Given the description of an element on the screen output the (x, y) to click on. 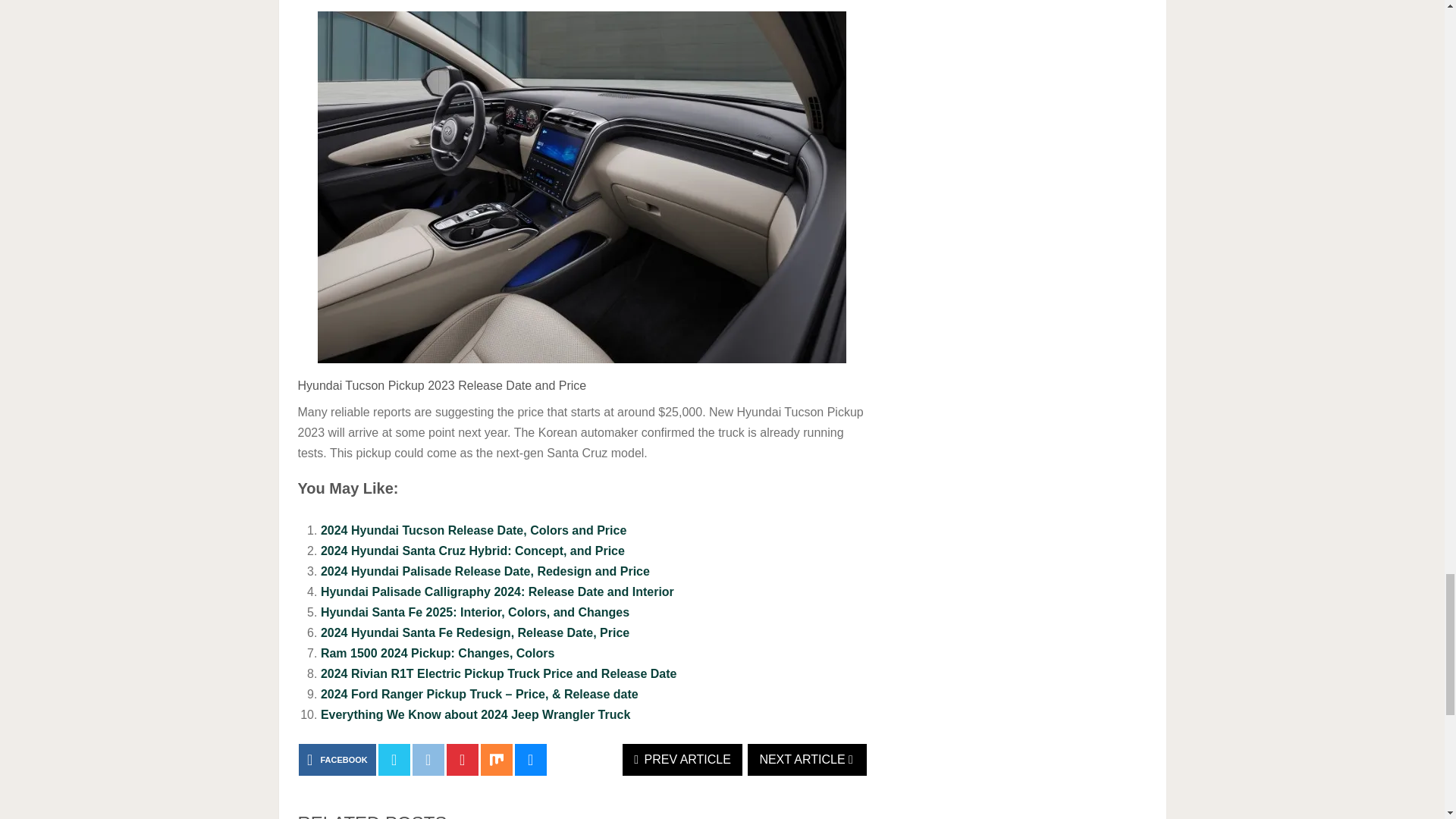
2024 Hyundai Palisade Release Date, Redesign and Price (484, 571)
2024 Hyundai Tucson Release Date, Colors and Price (473, 530)
2024 Hyundai Santa Cruz Hybrid: Concept, and Price (472, 550)
Hyundai Palisade Calligraphy 2024: Release Date and Interior (497, 591)
